Given the description of an element on the screen output the (x, y) to click on. 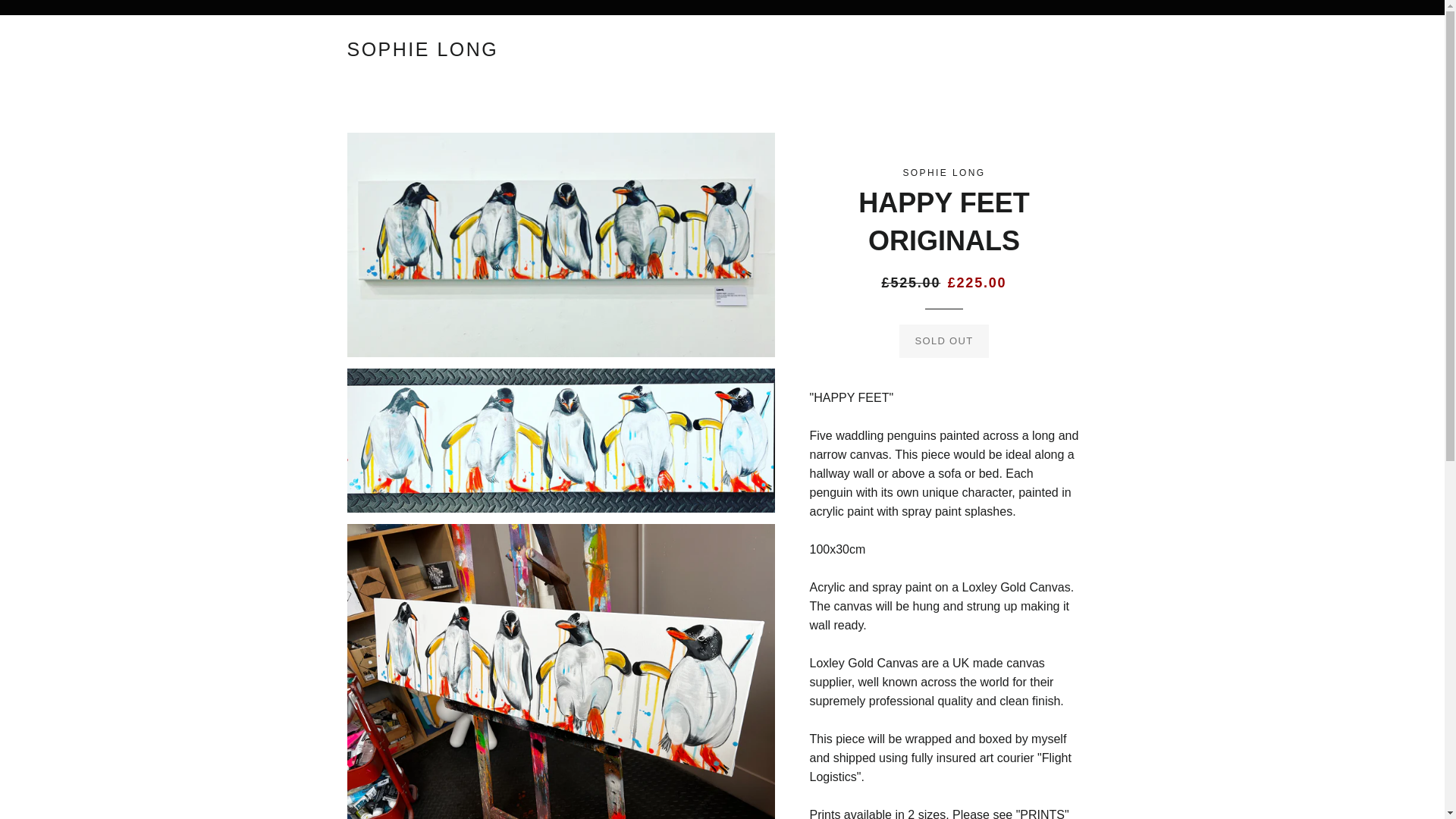
SOLD OUT (944, 340)
SOPHIE LONG (423, 49)
